Given the description of an element on the screen output the (x, y) to click on. 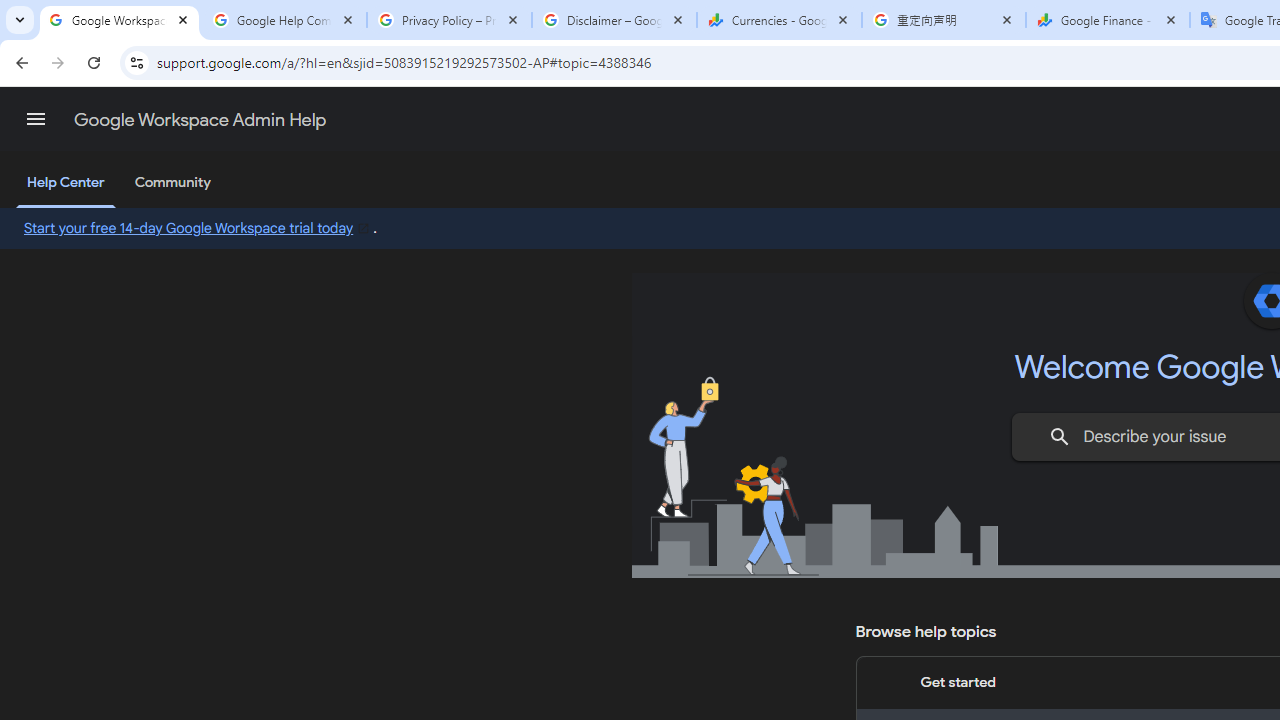
Main menu (35, 119)
Help Center (65, 183)
Currencies - Google Finance (779, 20)
